Given the description of an element on the screen output the (x, y) to click on. 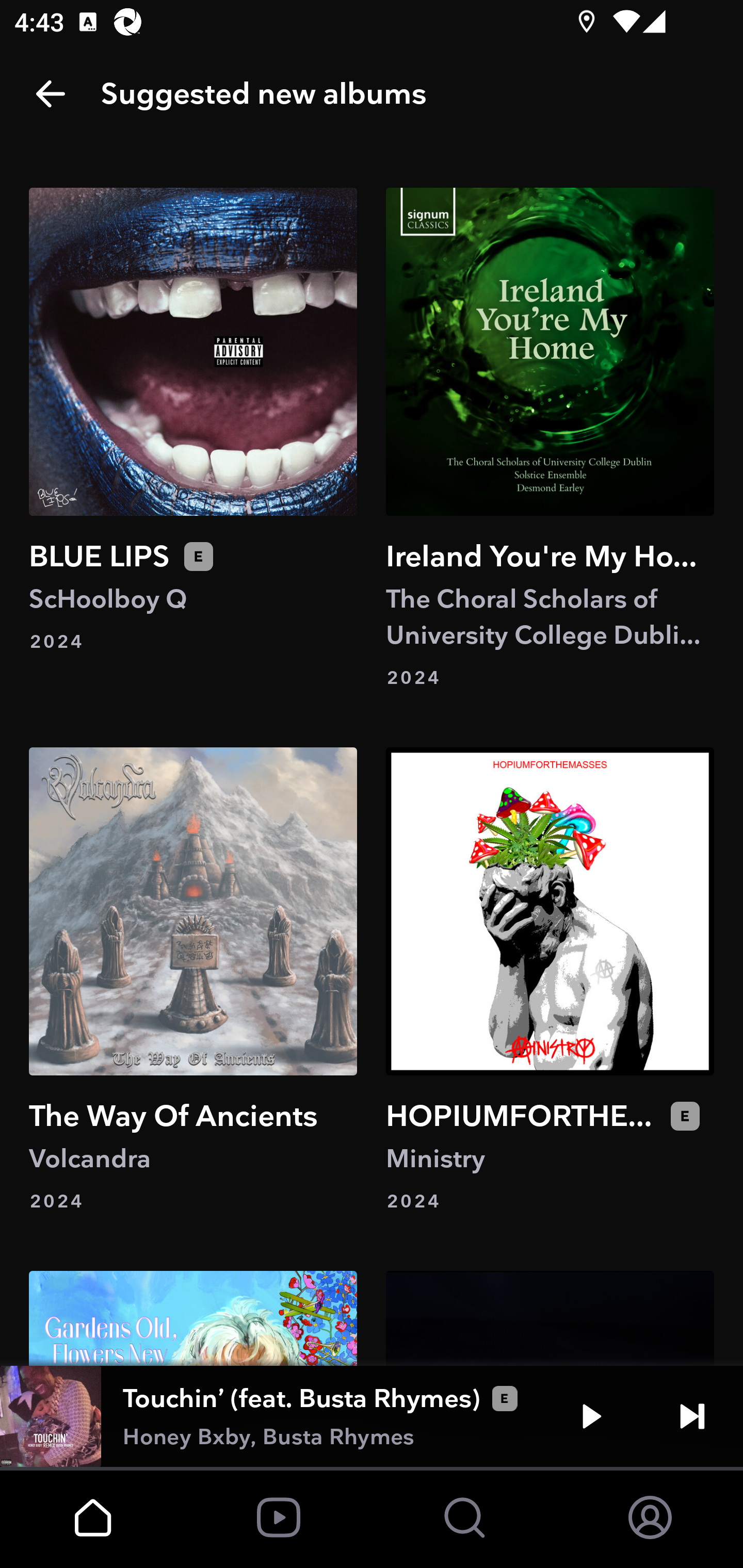
BLUE LIPS ScHoolboy Q 2024 (192, 438)
The Way Of Ancients Volcandra 2024 (192, 980)
HOPIUMFORTHEMASSES Ministry 2024 (549, 980)
Play (590, 1416)
